Given the description of an element on the screen output the (x, y) to click on. 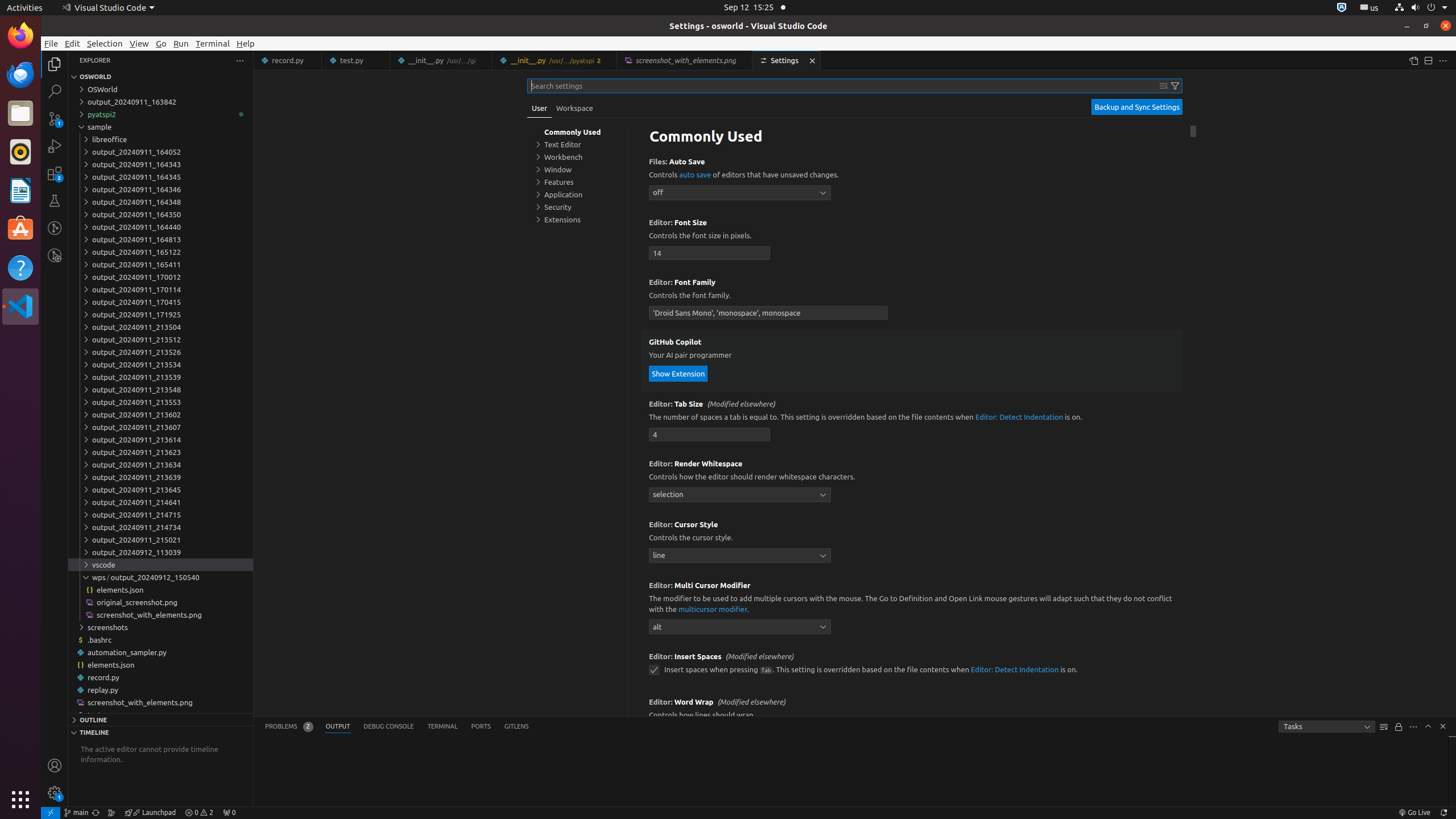
output_20240911_215021 Element type: tree-item (160, 539)
screenshots Element type: tree-item (160, 627)
alt Element type: menu-item (739, 626)
output_20240911_213553 Element type: tree-item (160, 401)
